Given the description of an element on the screen output the (x, y) to click on. 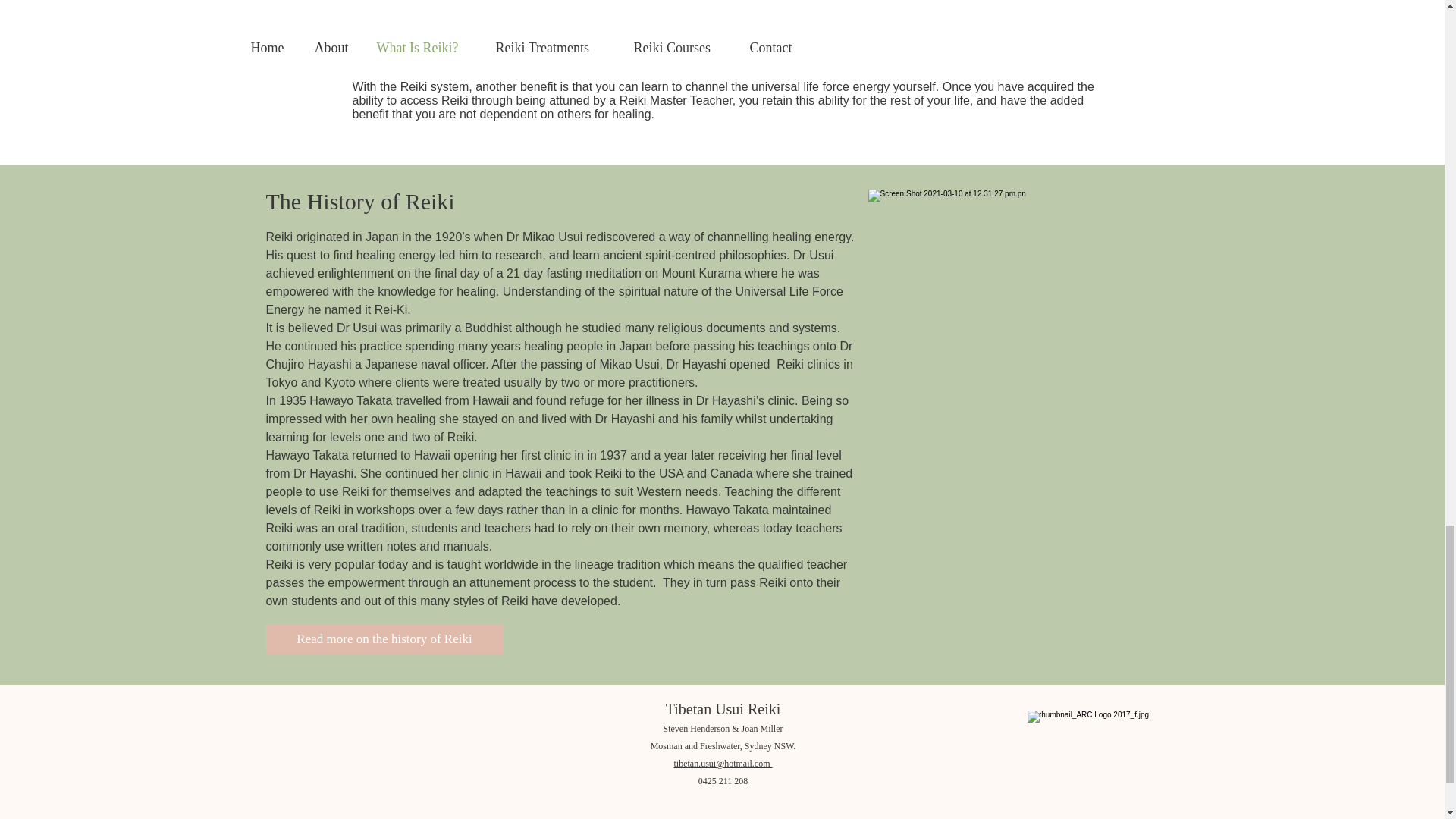
Read more on the history of Reiki (383, 639)
